Given the description of an element on the screen output the (x, y) to click on. 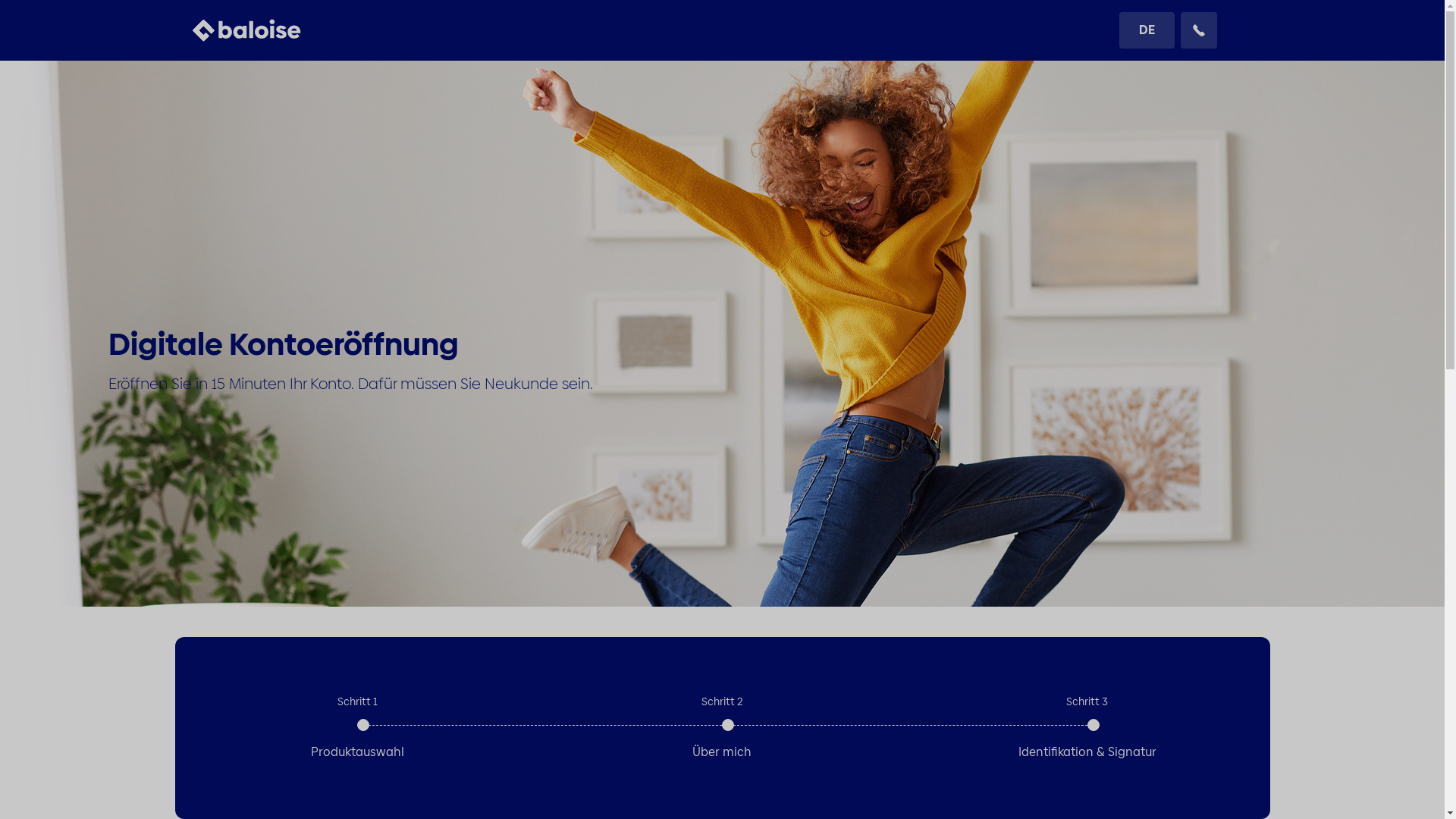
DE Element type: text (1146, 30)
